Given the description of an element on the screen output the (x, y) to click on. 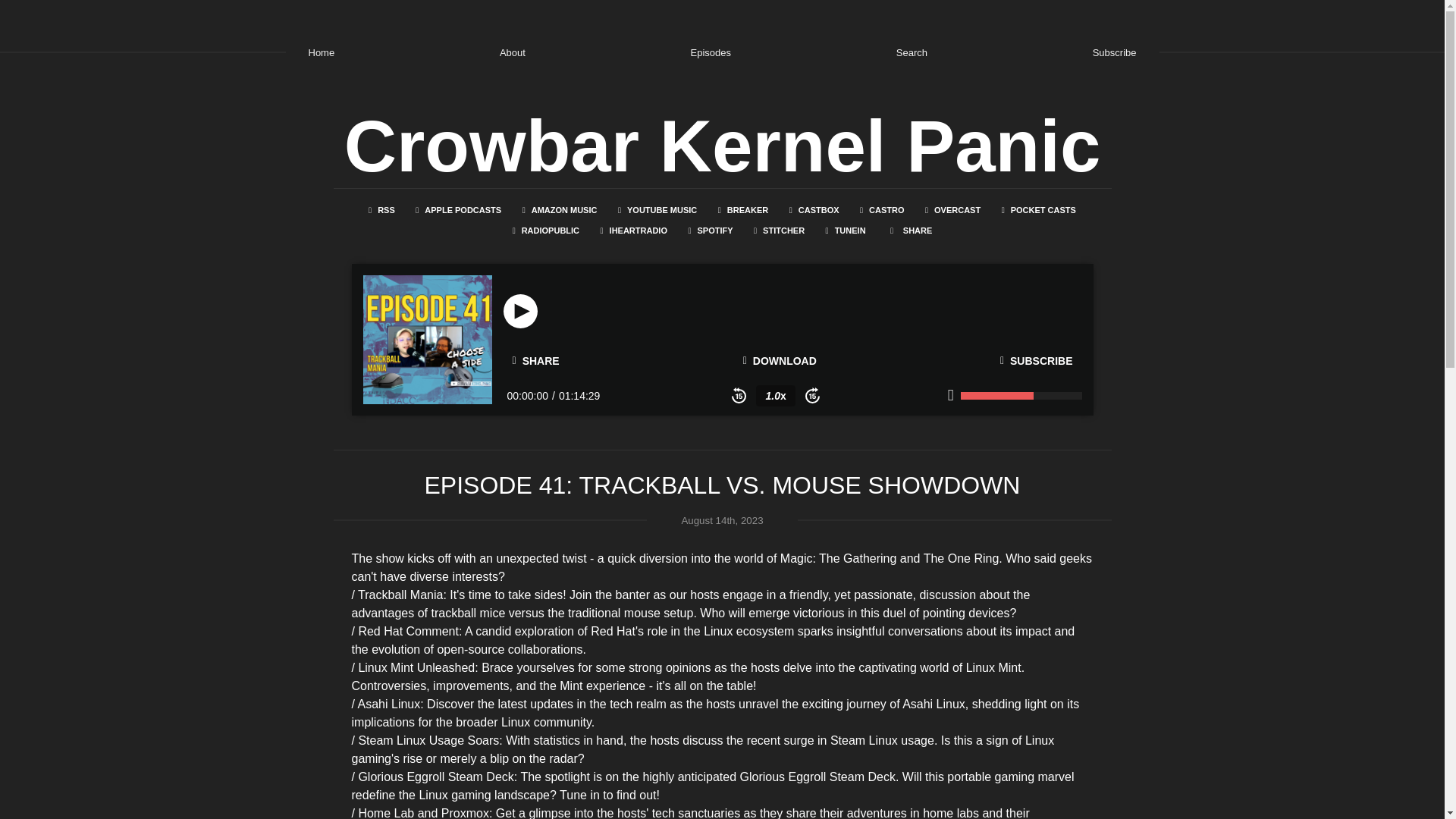
OVERCAST (952, 209)
AMAZON MUSIC (560, 209)
CASTBOX (814, 209)
STITCHER (778, 230)
SPOTIFY (709, 230)
TUNEIN (845, 230)
CASTRO (881, 209)
YOUTUBE MUSIC (657, 209)
SHARE (536, 360)
Search (911, 52)
